Given the description of an element on the screen output the (x, y) to click on. 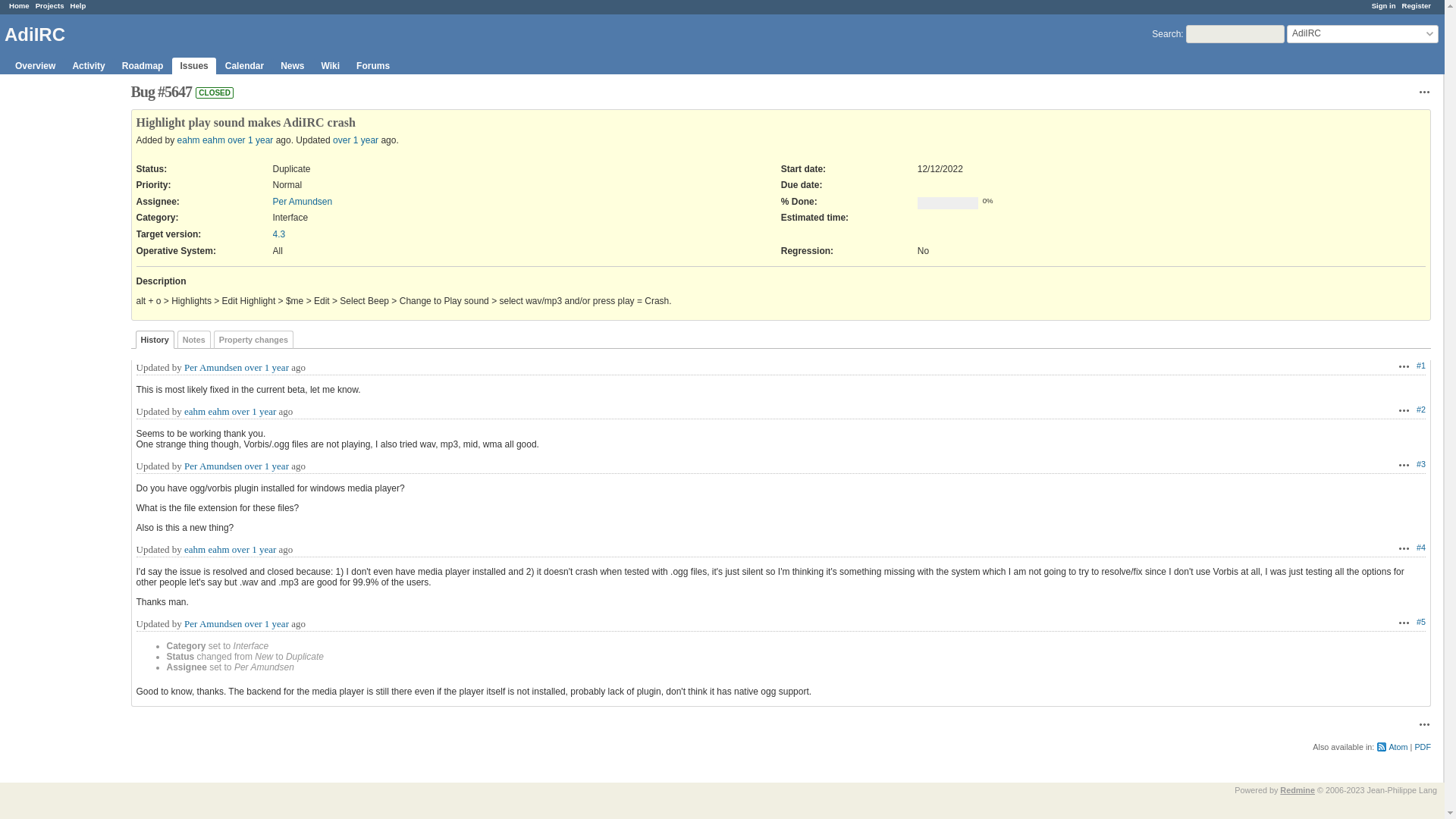
Overview (34, 65)
eahm eahm (207, 410)
Calendar (243, 65)
Per Amundsen (212, 465)
Issues (193, 65)
Actions (1403, 410)
Search (1165, 33)
over 1 year (266, 367)
Roadmap (143, 65)
Property changes (254, 339)
Actions (1403, 464)
over 1 year (253, 410)
Actions (1403, 366)
Wiki (330, 65)
Notes (194, 339)
